Given the description of an element on the screen output the (x, y) to click on. 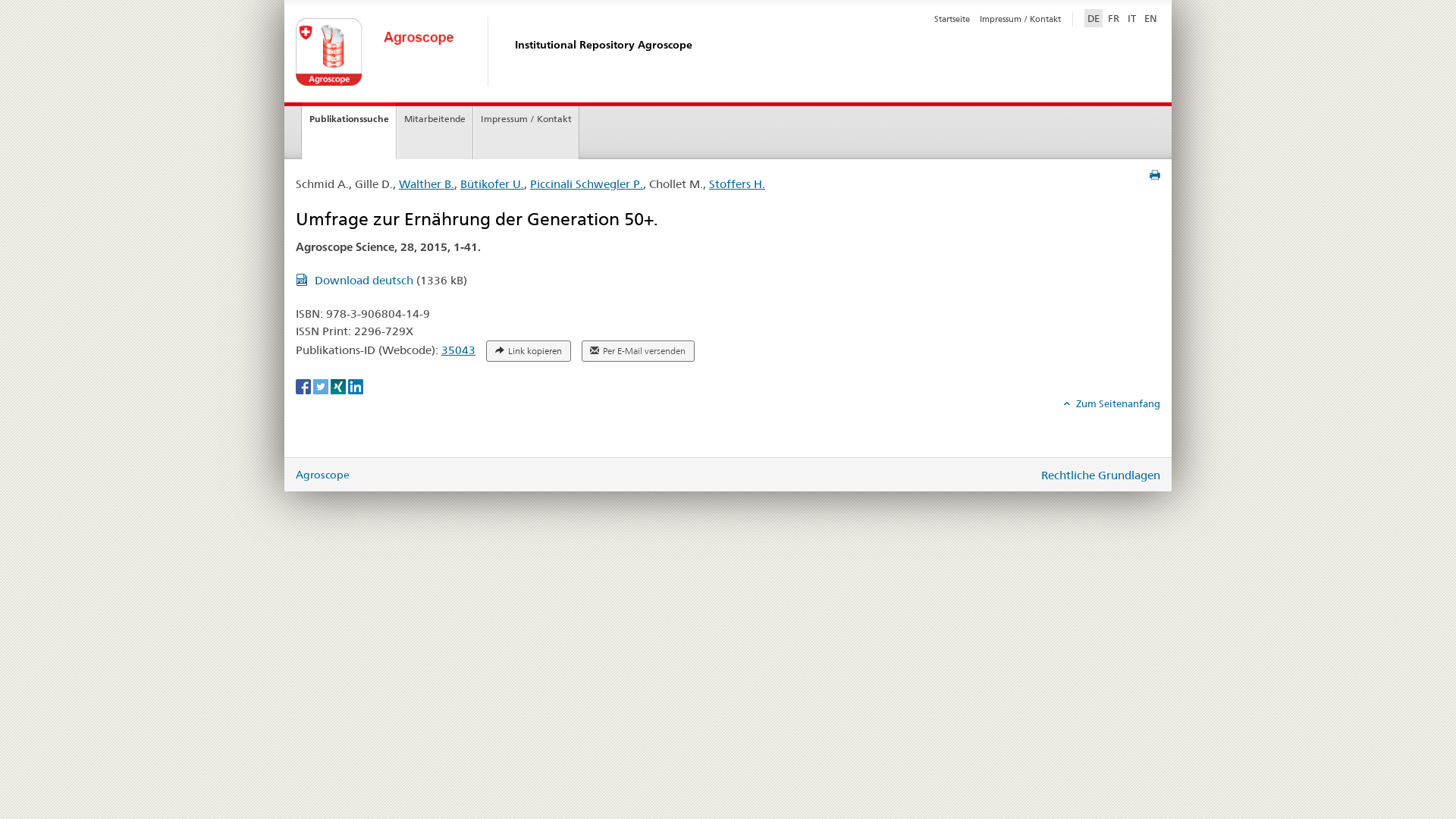
Walther B. Element type: text (426, 183)
Publikationssuche Element type: text (348, 130)
IT Element type: text (1131, 18)
Seite drucken Element type: hover (1154, 174)
Agroscope Element type: text (322, 474)
Startseite Element type: text (951, 18)
Rechtliche Grundlagen Element type: text (1100, 474)
Per E-Mail versenden Element type: text (638, 350)
FR Element type: text (1113, 18)
Link kopieren Element type: text (528, 350)
35043 Element type: text (458, 349)
Stoffers H. Element type: text (737, 183)
Zum Seitenanfang Element type: text (1111, 403)
Download deutsch Element type: text (355, 280)
EN Element type: text (1150, 18)
Impressum / Kontakt Element type: text (525, 132)
Mitarbeitende Element type: text (434, 132)
Impressum / Kontakt Element type: text (1019, 18)
DE
selected Element type: text (1093, 18)
Piccinali Schwegler P. Element type: text (586, 183)
